Given the description of an element on the screen output the (x, y) to click on. 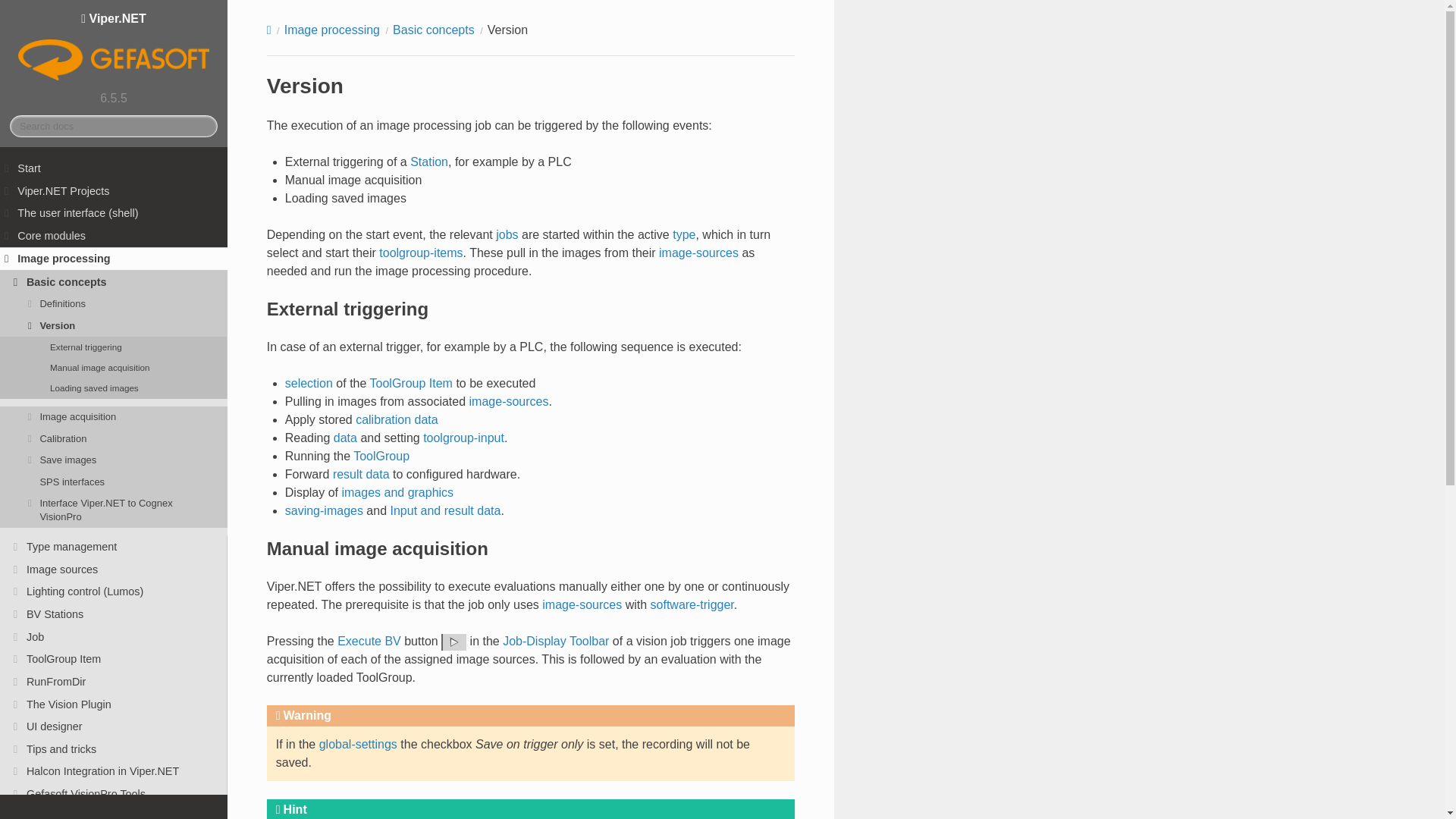
Start (113, 168)
Viper.NET (113, 47)
Viper.NET Projects (113, 190)
